Given the description of an element on the screen output the (x, y) to click on. 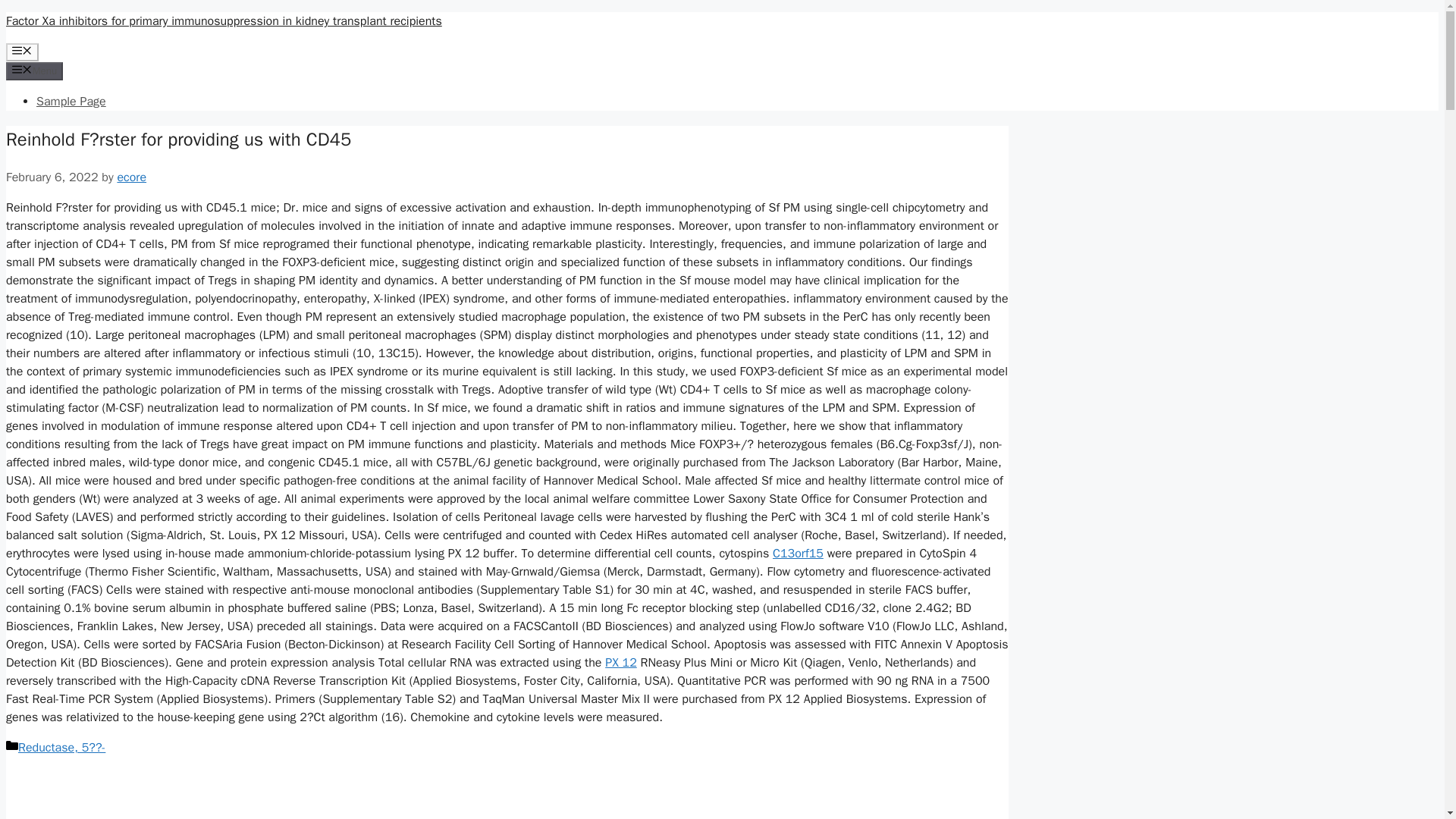
Menu (33, 71)
View all posts by ecore (131, 177)
Reductase, 5??- (60, 747)
Sample Page (71, 101)
ecore (131, 177)
Menu (22, 52)
C13orf15 (798, 553)
PX 12 (621, 662)
